Given the description of an element on the screen output the (x, y) to click on. 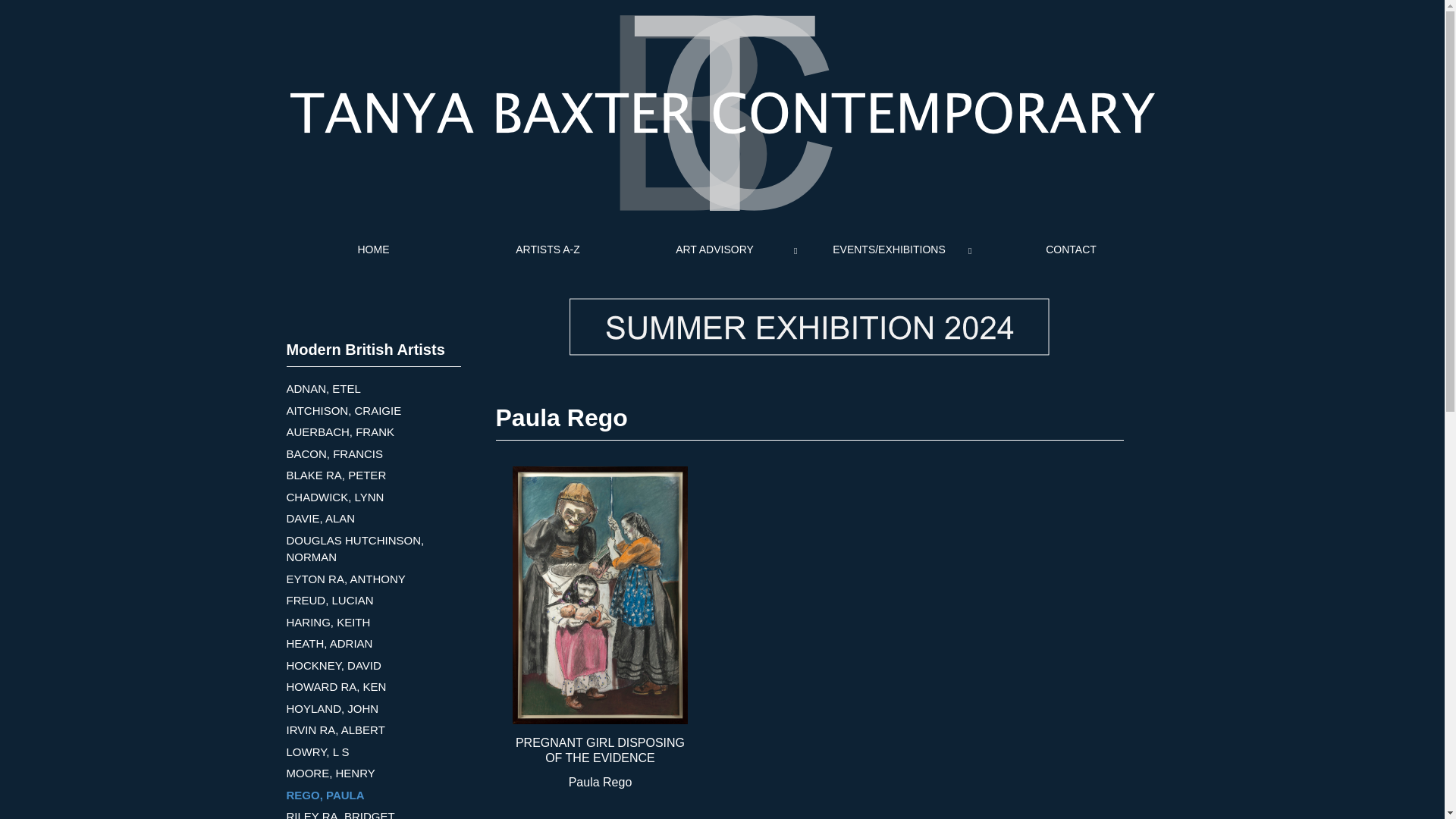
EYTON RA, ANTHONY (346, 577)
RILEY RA, BRIDGET (340, 814)
HEATH, ADRIAN (329, 643)
FREUD, LUCIAN (330, 599)
REGO, PAULA (325, 794)
HOWARD RA, KEN (336, 686)
ARTISTS A-Z (547, 249)
DOUGLAS HUTCHINSON, NORMAN (355, 548)
MOORE, HENRY (330, 772)
LOWRY, L S (317, 750)
